Given the description of an element on the screen output the (x, y) to click on. 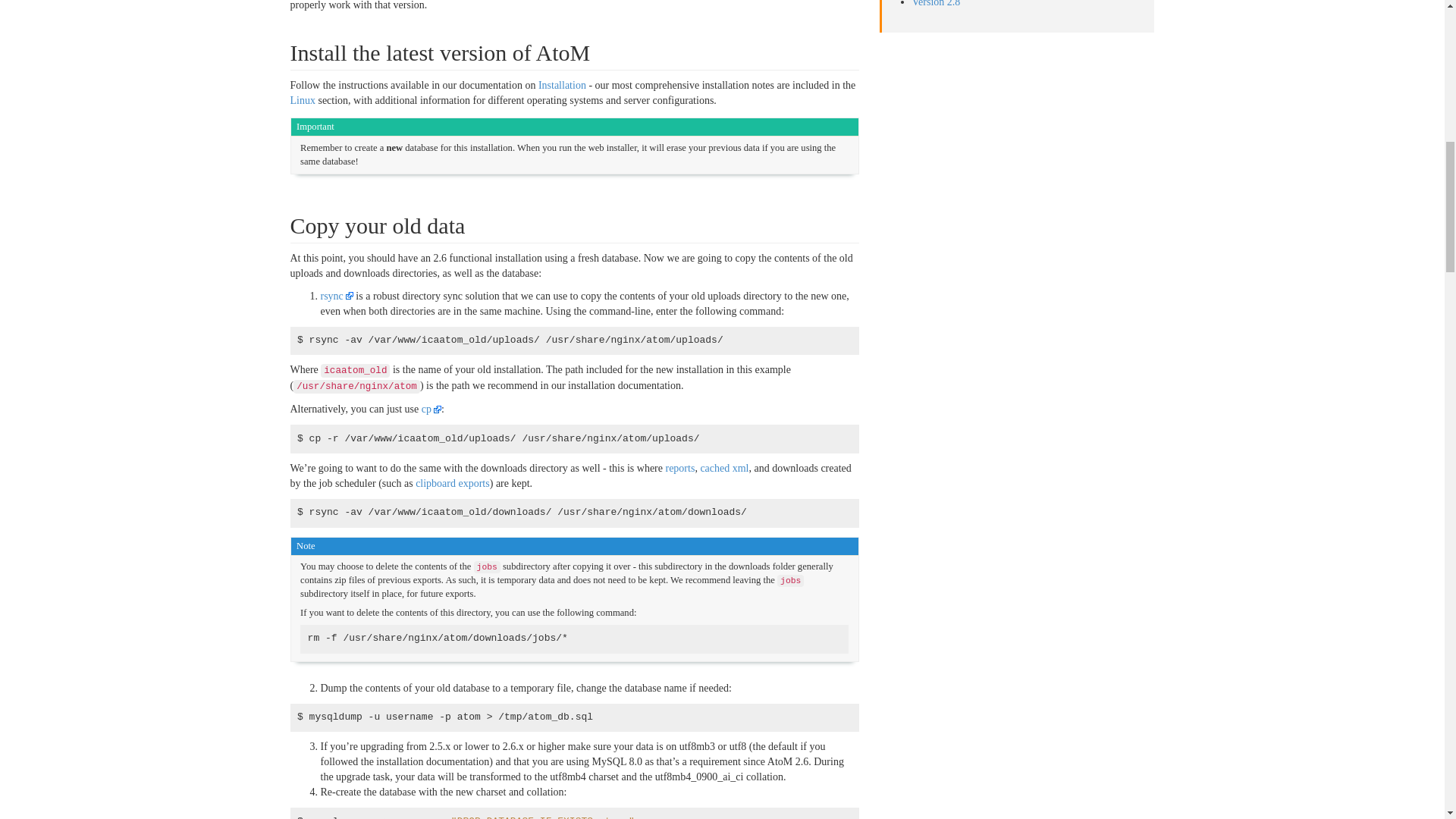
Installation (562, 84)
cp (431, 408)
reports (679, 468)
Linux (301, 100)
cached xml (724, 468)
rsync (336, 296)
clipboard exports (451, 482)
